Given the description of an element on the screen output the (x, y) to click on. 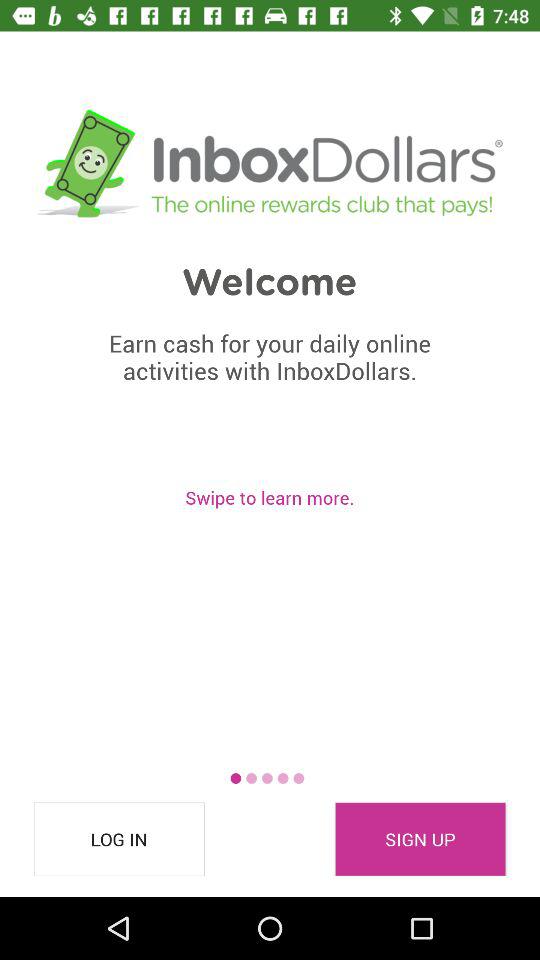
swipe to the log in item (119, 839)
